Given the description of an element on the screen output the (x, y) to click on. 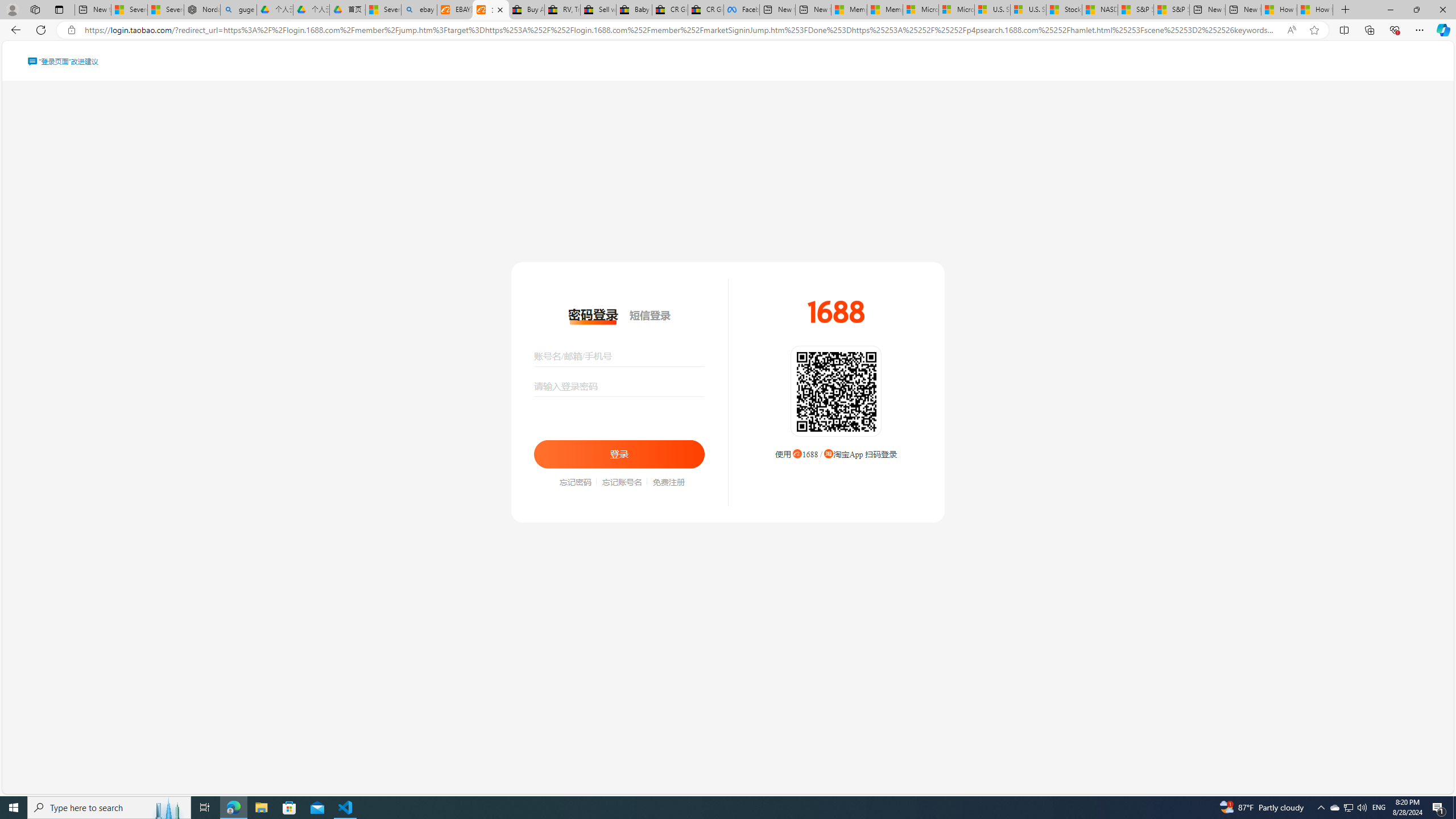
Address and search bar (680, 29)
Nordace - Summer Adventures 2024 (202, 9)
ebay - Search (419, 9)
How to Use a Monitor With Your Closed Laptop (1315, 9)
S&P 500, Nasdaq end lower, weighed by Nvidia dip | Watch (1170, 9)
Buy Auto Parts & Accessories | eBay (525, 9)
